Given the description of an element on the screen output the (x, y) to click on. 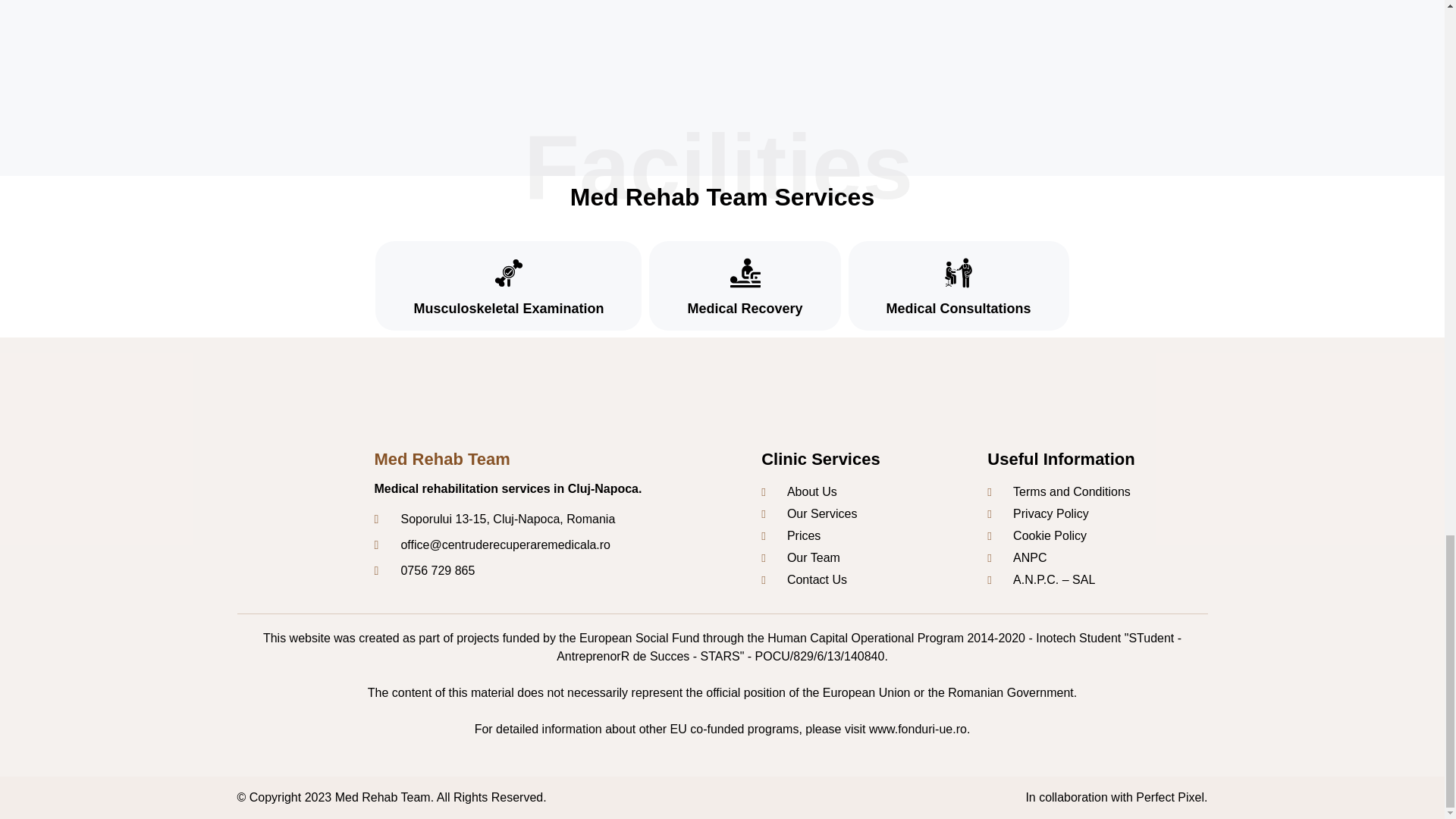
Prices (874, 536)
0756 729 865 (567, 570)
Soporului 13-15, Cluj-Napoca, Romania (567, 519)
About Us (874, 492)
Our Services (874, 514)
Terms and Conditions (1094, 492)
Our Team (874, 557)
Contact Us (874, 579)
